Given the description of an element on the screen output the (x, y) to click on. 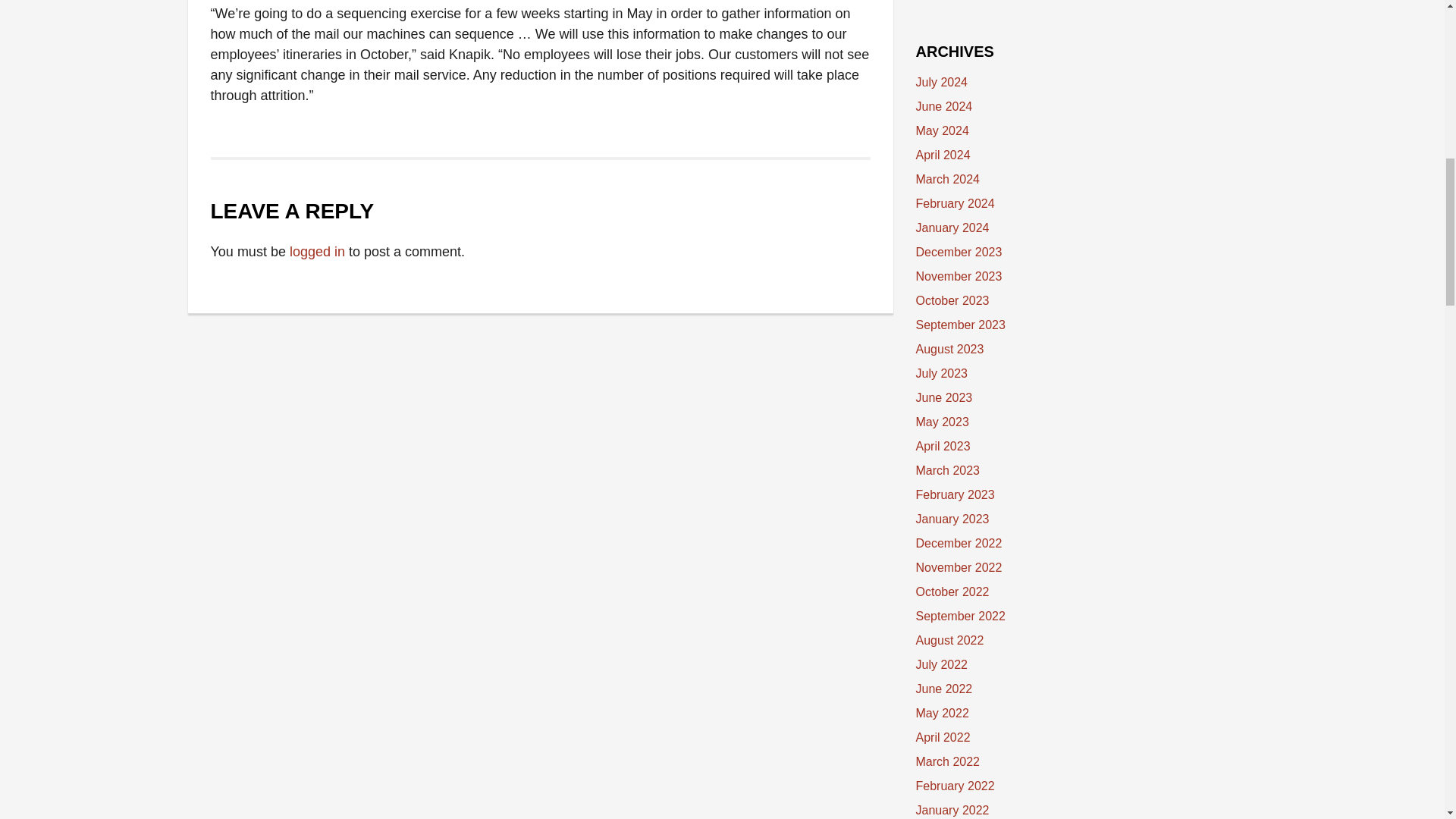
logged in (317, 251)
